Given the description of an element on the screen output the (x, y) to click on. 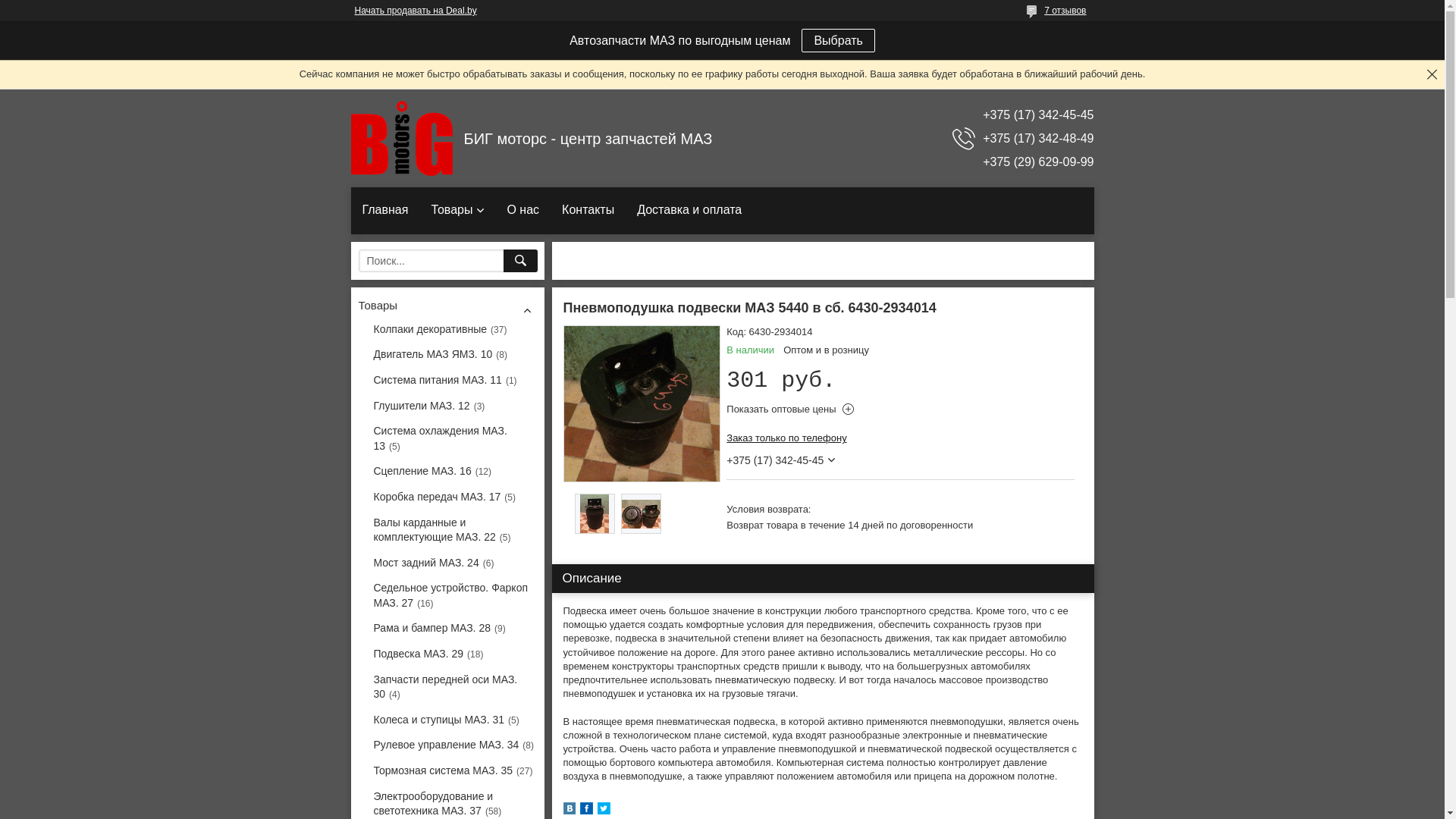
twitter Element type: hover (603, 810)
facebook Element type: hover (585, 810)
